Given the description of an element on the screen output the (x, y) to click on. 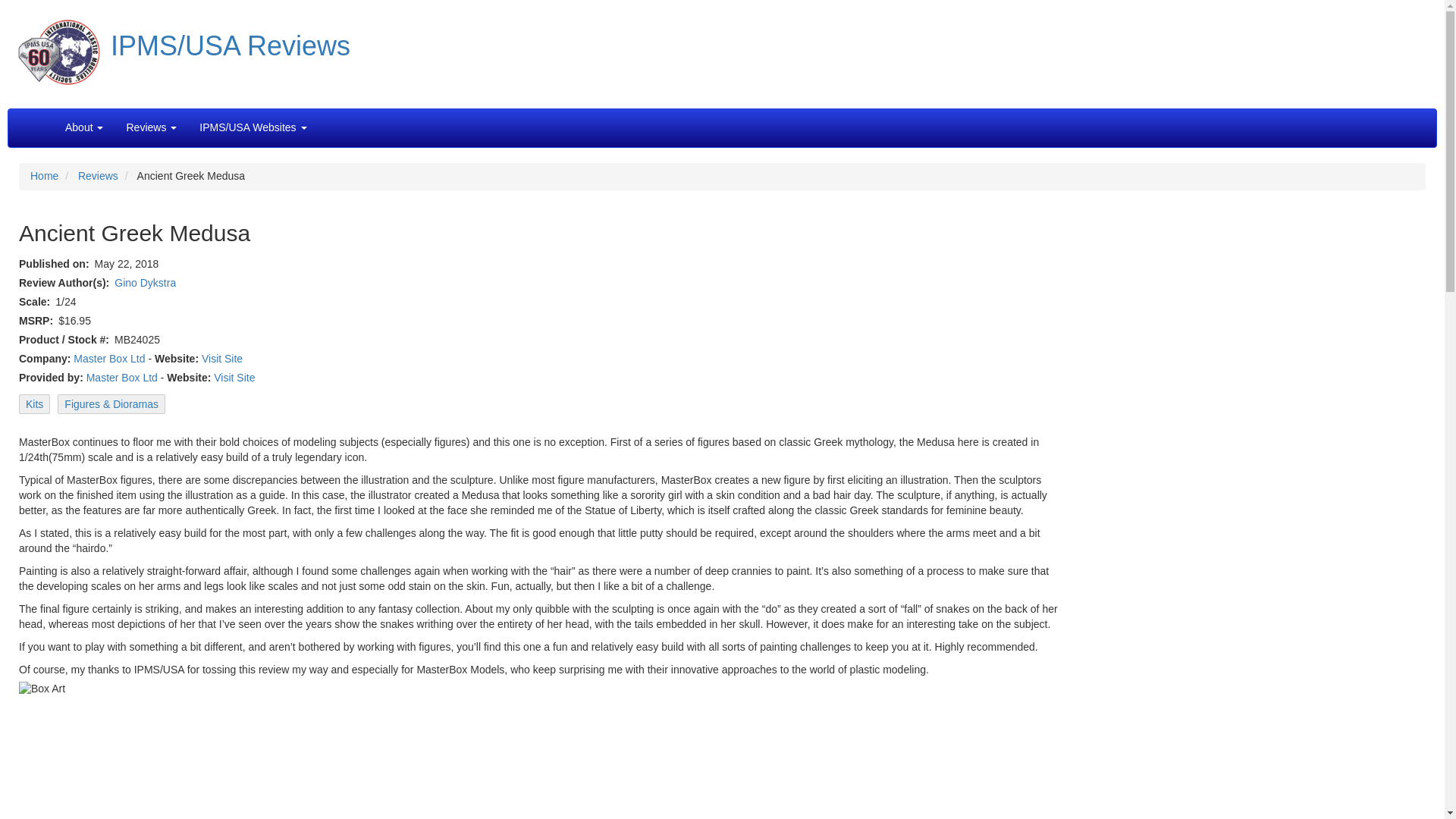
Gino Dykstra (145, 282)
Reviews (97, 175)
Search (329, 119)
Reviews (150, 127)
Master Box Ltd (121, 377)
Box Art (309, 750)
About (84, 127)
Master Box Ltd (109, 358)
Home (44, 175)
Visit Site (222, 358)
